Given the description of an element on the screen output the (x, y) to click on. 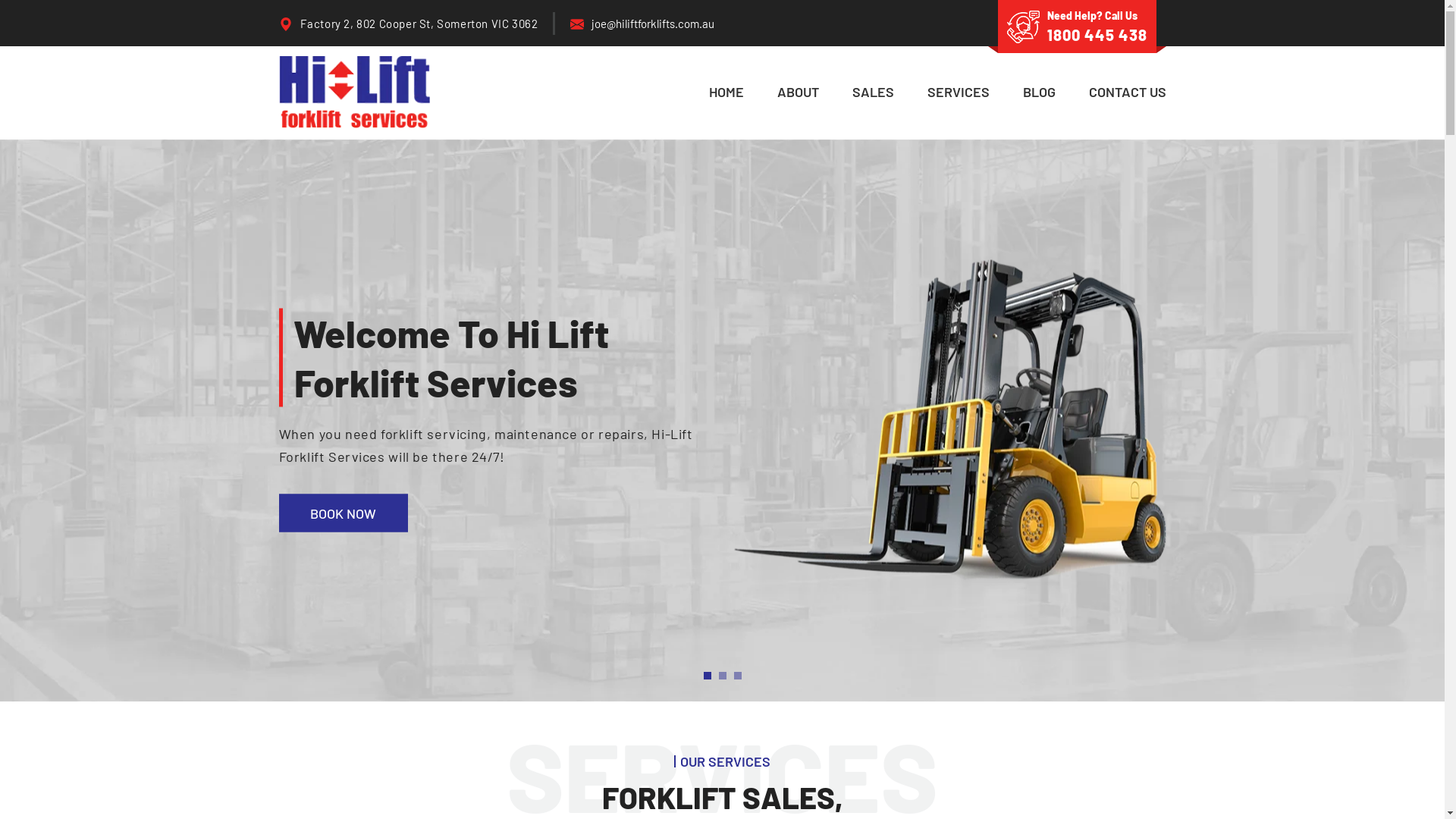
main-banner Element type: hover (722, 420)
banner-right-img Element type: hover (950, 419)
ABOUT Element type: text (797, 92)
SALES Element type: text (873, 92)
HOME Element type: text (725, 92)
CONTACT US Element type: text (1127, 92)
Call Element type: hover (1023, 26)
1800 445 438 Element type: text (1096, 34)
Forklift Hire Melbourne - Hi Lift Fork Lifts Element type: hover (354, 90)
SERVICES Element type: text (957, 92)
BLOG Element type: text (1038, 92)
Forklift Hire Melbourne - Hi Lift Fork Lifts Element type: hover (354, 92)
BOOK NOW Element type: text (343, 512)
joe@hiliftforklifts.com.au Element type: text (652, 23)
